Given the description of an element on the screen output the (x, y) to click on. 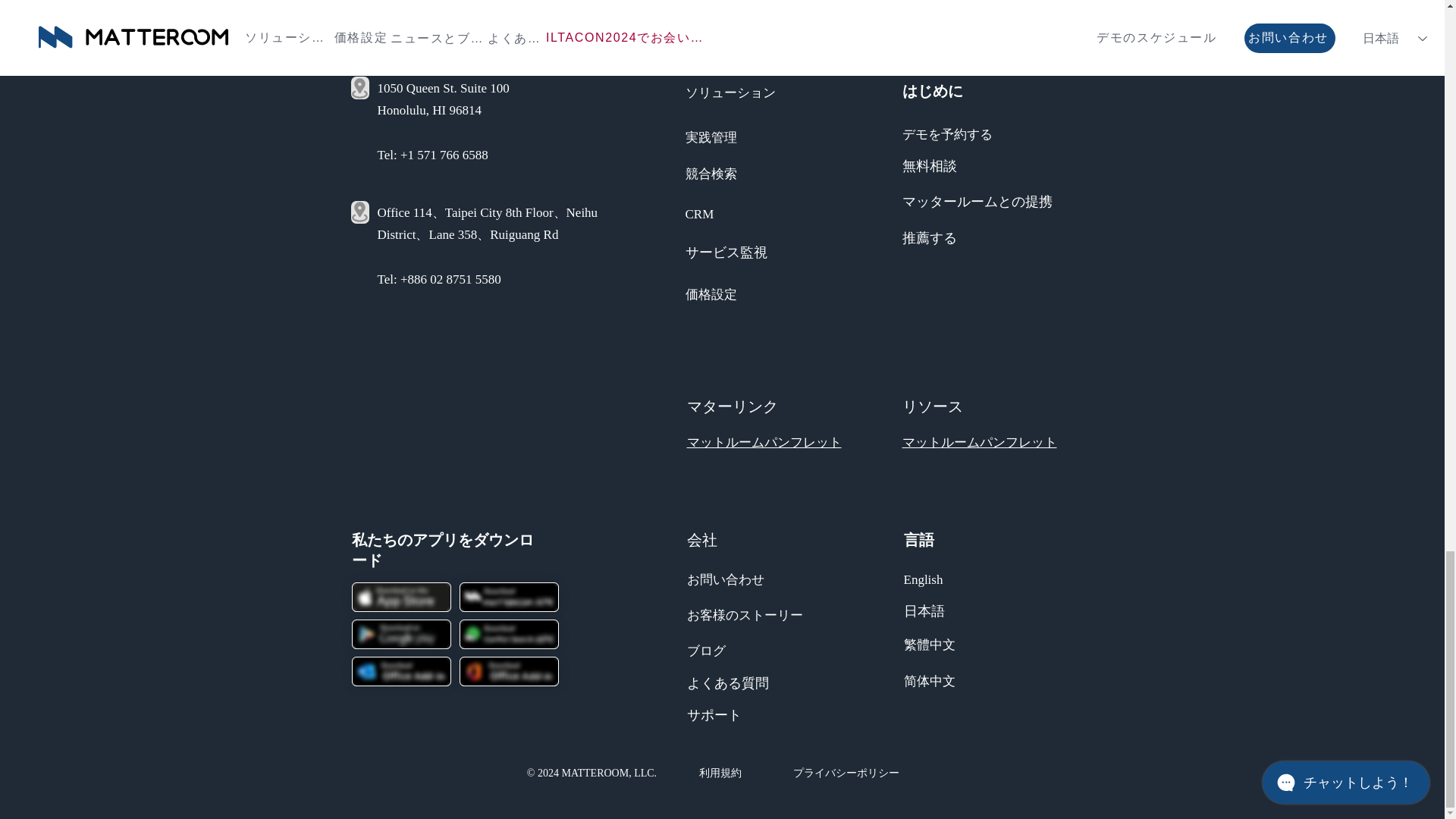
CRM (699, 211)
English (923, 578)
2024 MATTEROOM, LLC. (596, 772)
